Given the description of an element on the screen output the (x, y) to click on. 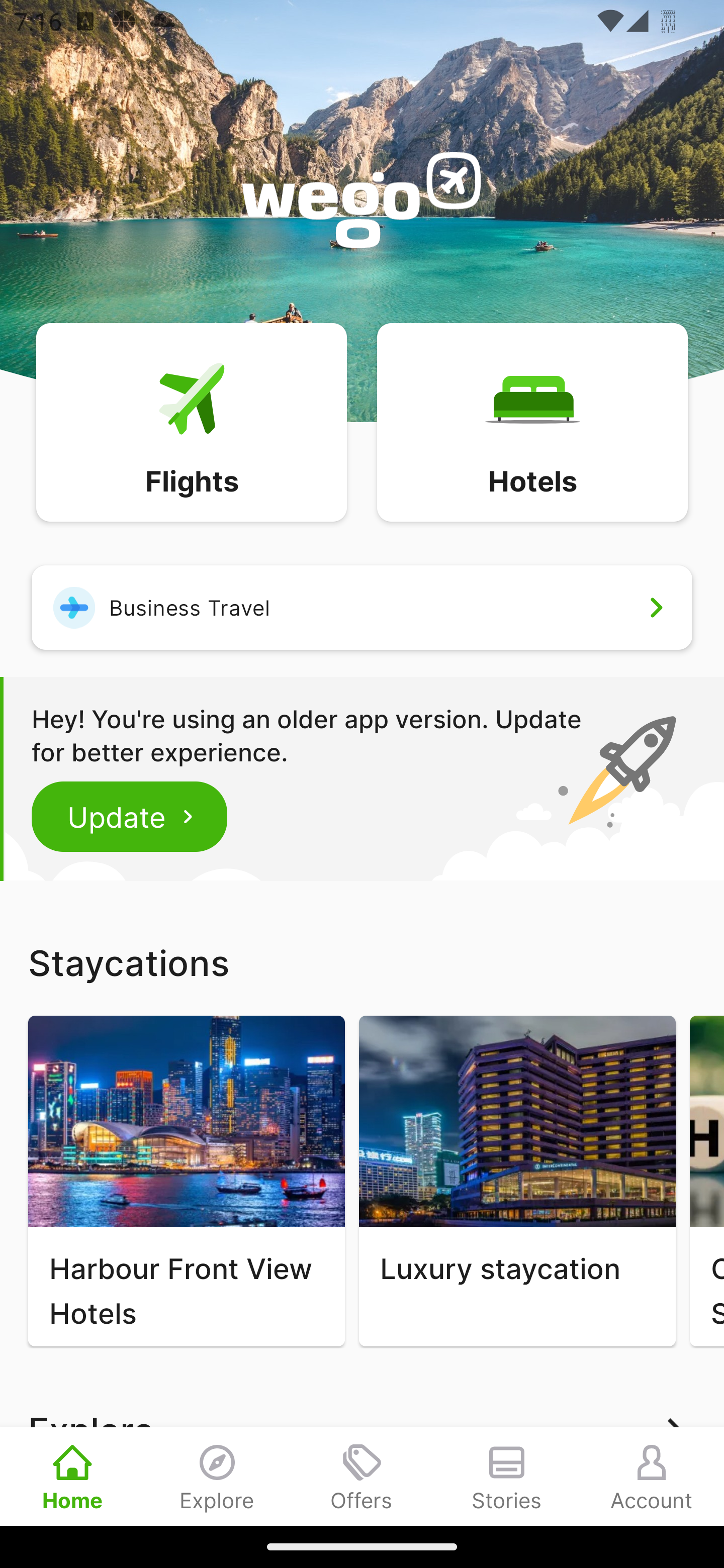
Flights (191, 420)
Hotels (532, 420)
Business Travel (361, 607)
Update (129, 815)
Staycations (362, 962)
Harbour Front View Hotels (186, 1181)
Luxury staycation (517, 1181)
Explore (216, 1475)
Offers (361, 1475)
Stories (506, 1475)
Account (651, 1475)
